Given the description of an element on the screen output the (x, y) to click on. 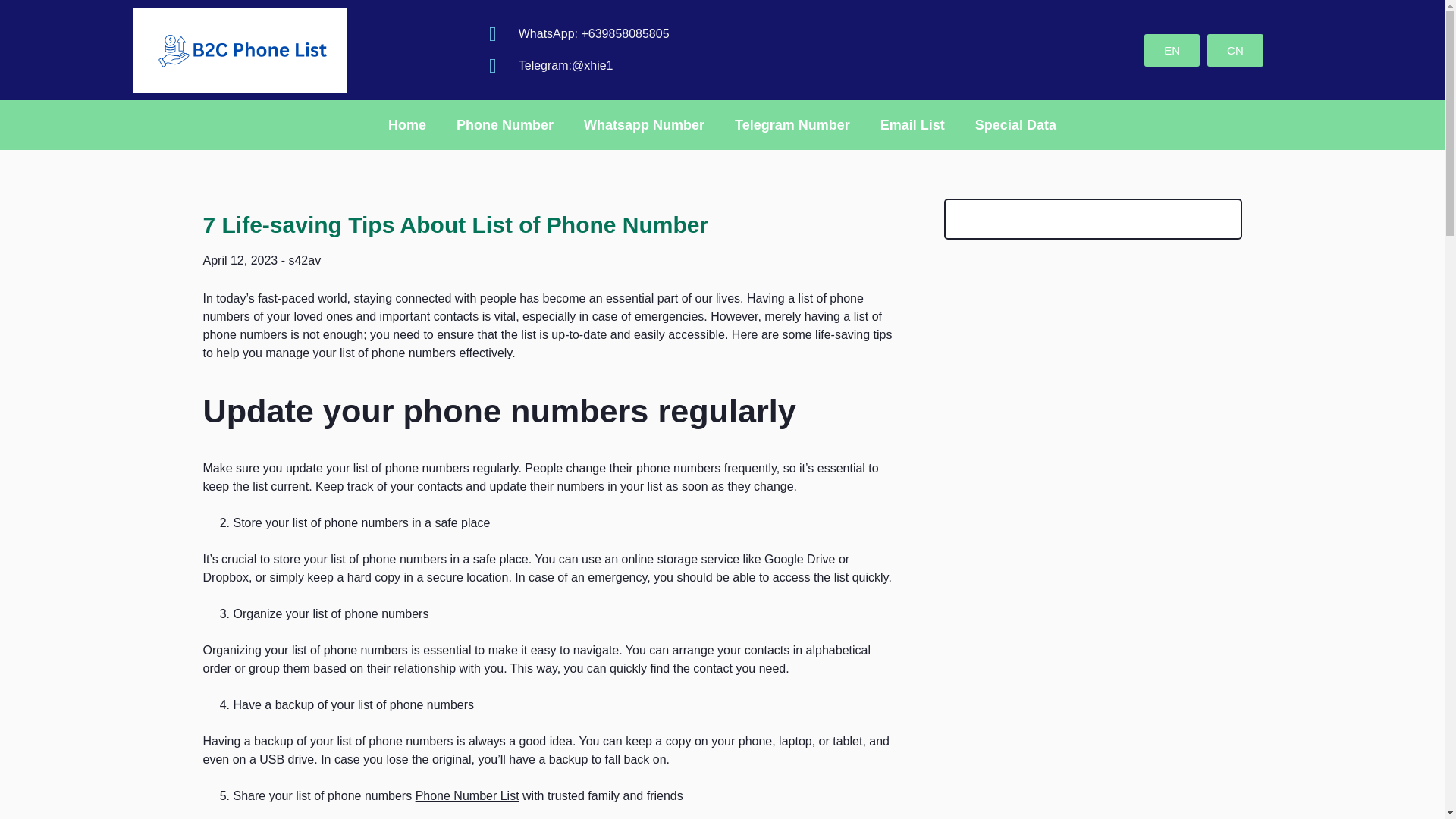
Home (406, 124)
Phone Number (505, 124)
EN (1171, 49)
s42av (304, 259)
April 12, 2023 (240, 259)
Phone Number List (466, 795)
Whatsapp Number (644, 124)
Telegram Number (791, 124)
Email List (911, 124)
Special Data (1015, 124)
CN (1235, 49)
